Given the description of an element on the screen output the (x, y) to click on. 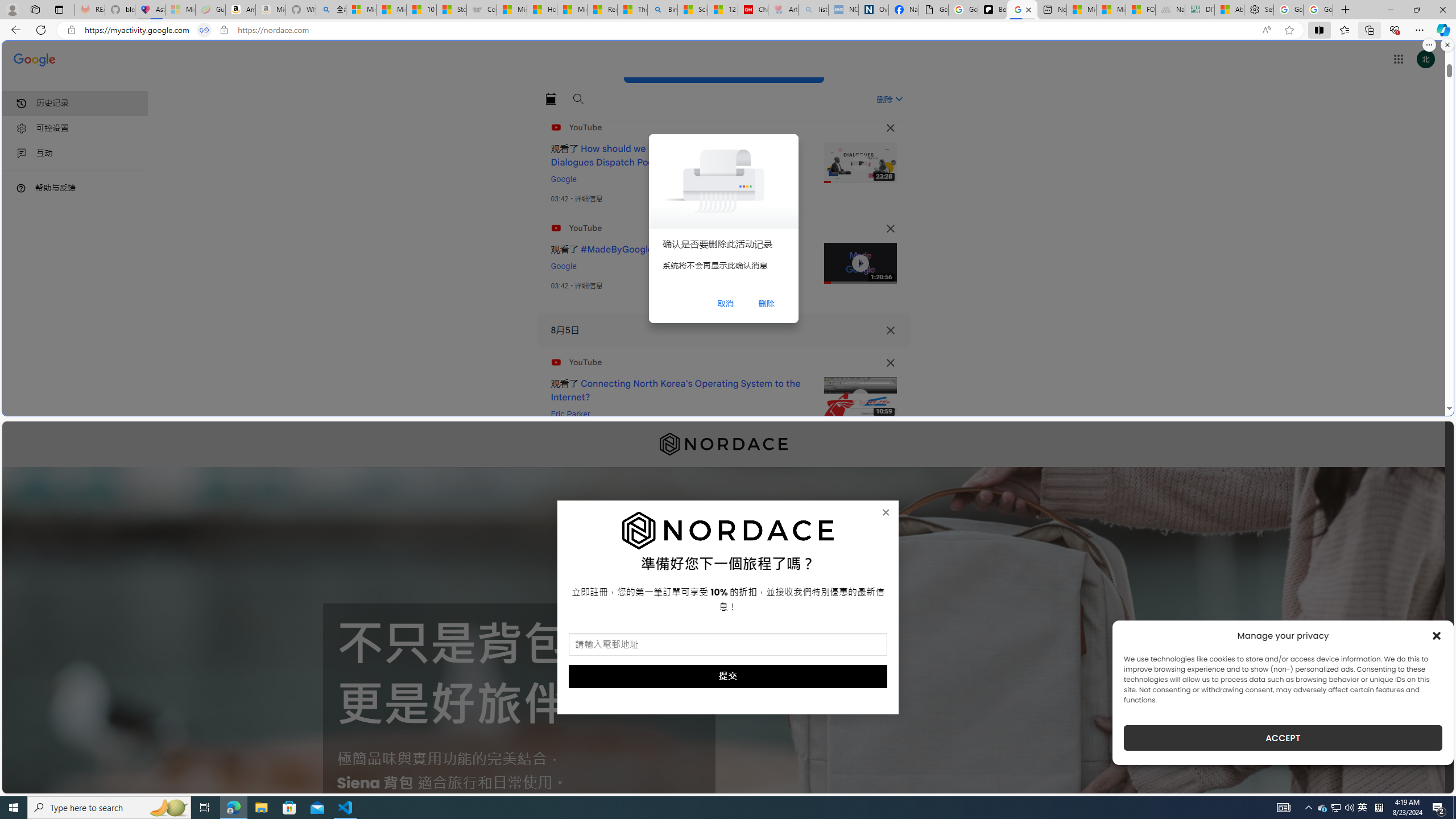
Aberdeen, Hong Kong SAR hourly forecast | Microsoft Weather (1229, 9)
Class: IVR0f NMm5M (860, 397)
Google (563, 266)
